Given the description of an element on the screen output the (x, y) to click on. 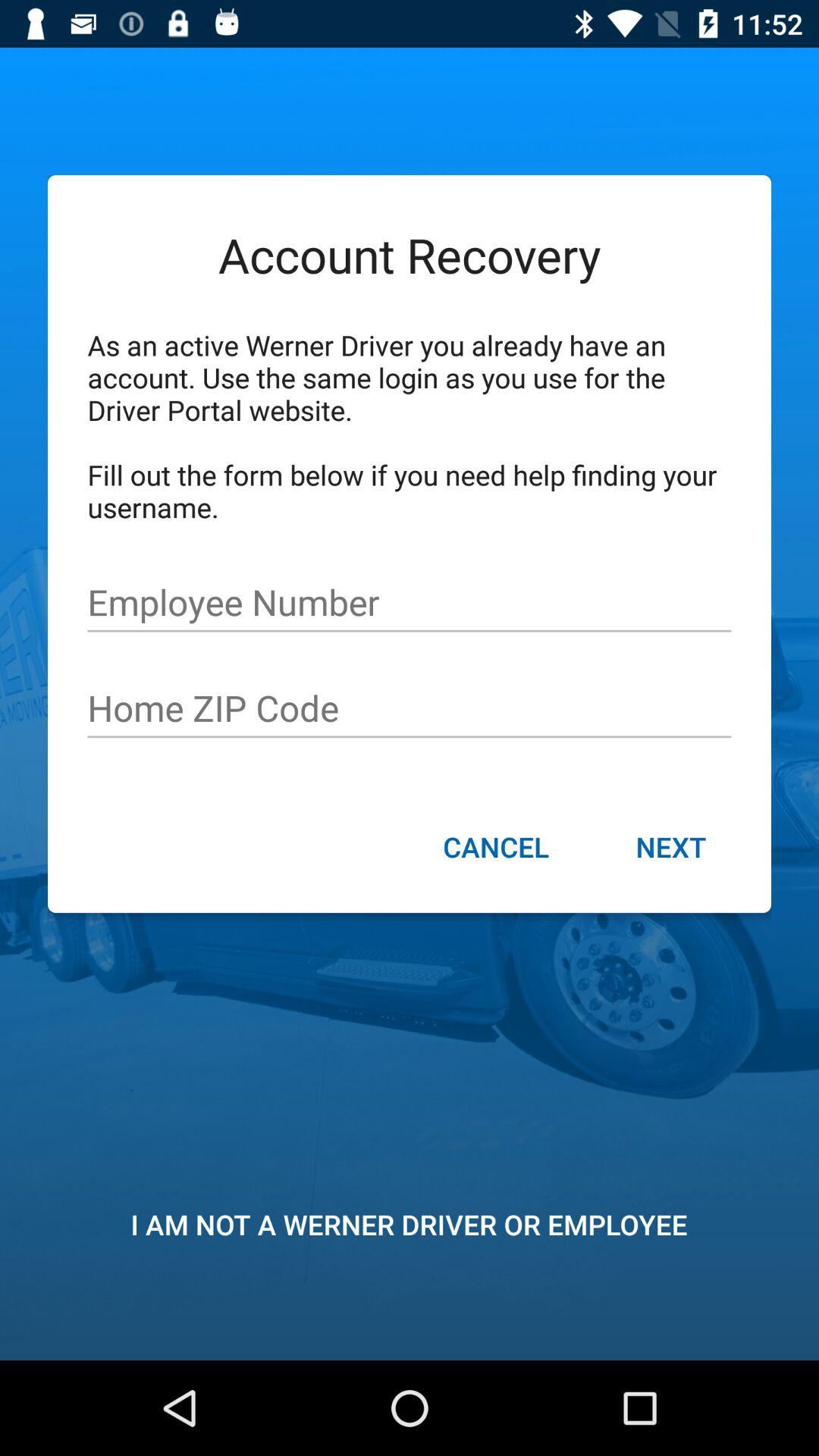
press the icon to the right of the cancel icon (670, 848)
